Given the description of an element on the screen output the (x, y) to click on. 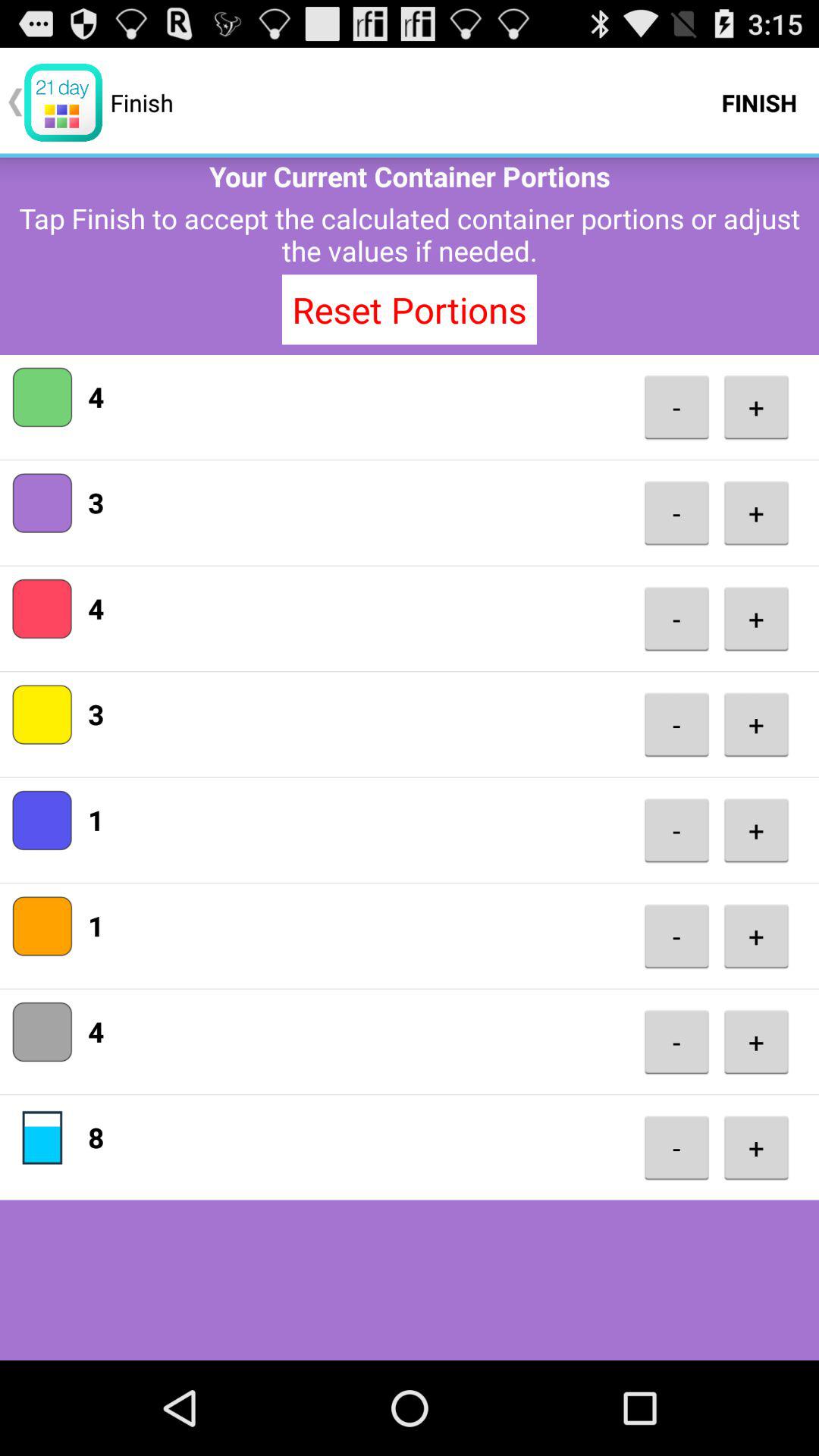
choose - button (676, 1041)
